Given the description of an element on the screen output the (x, y) to click on. 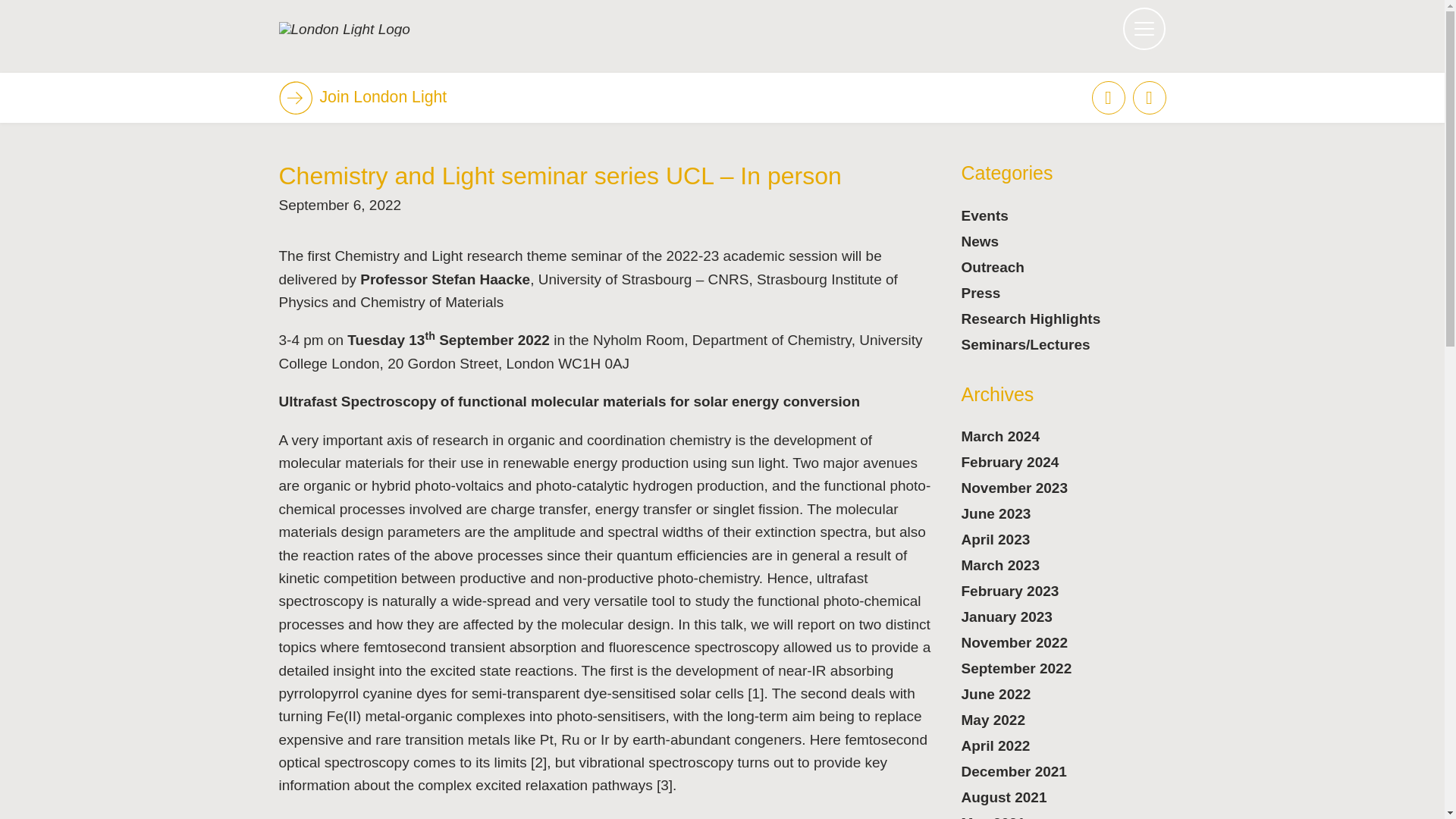
December 2021 (1013, 771)
November 2023 (1013, 487)
Research Highlights (1030, 318)
May 2022 (993, 719)
Outreach (992, 267)
September 2022 (1015, 668)
June 2022 (995, 693)
Join London Light (362, 97)
April 2023 (995, 539)
May 2021 (993, 816)
April 2022 (995, 745)
Events (984, 215)
March 2024 (1000, 436)
News (979, 241)
November 2022 (1013, 642)
